Given the description of an element on the screen output the (x, y) to click on. 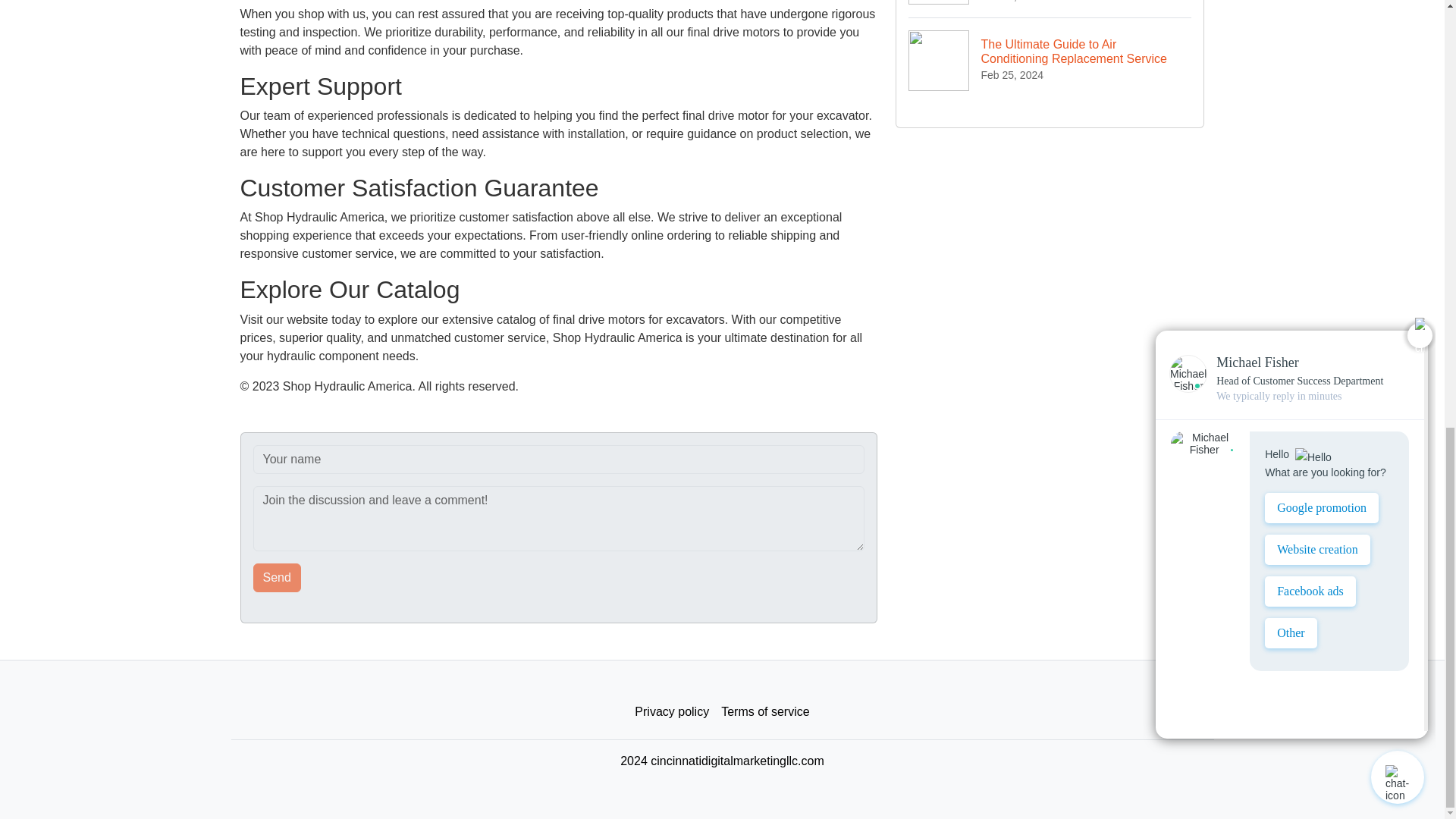
Send (277, 577)
Terms of service (764, 711)
Send (277, 577)
Privacy policy (671, 711)
